Given the description of an element on the screen output the (x, y) to click on. 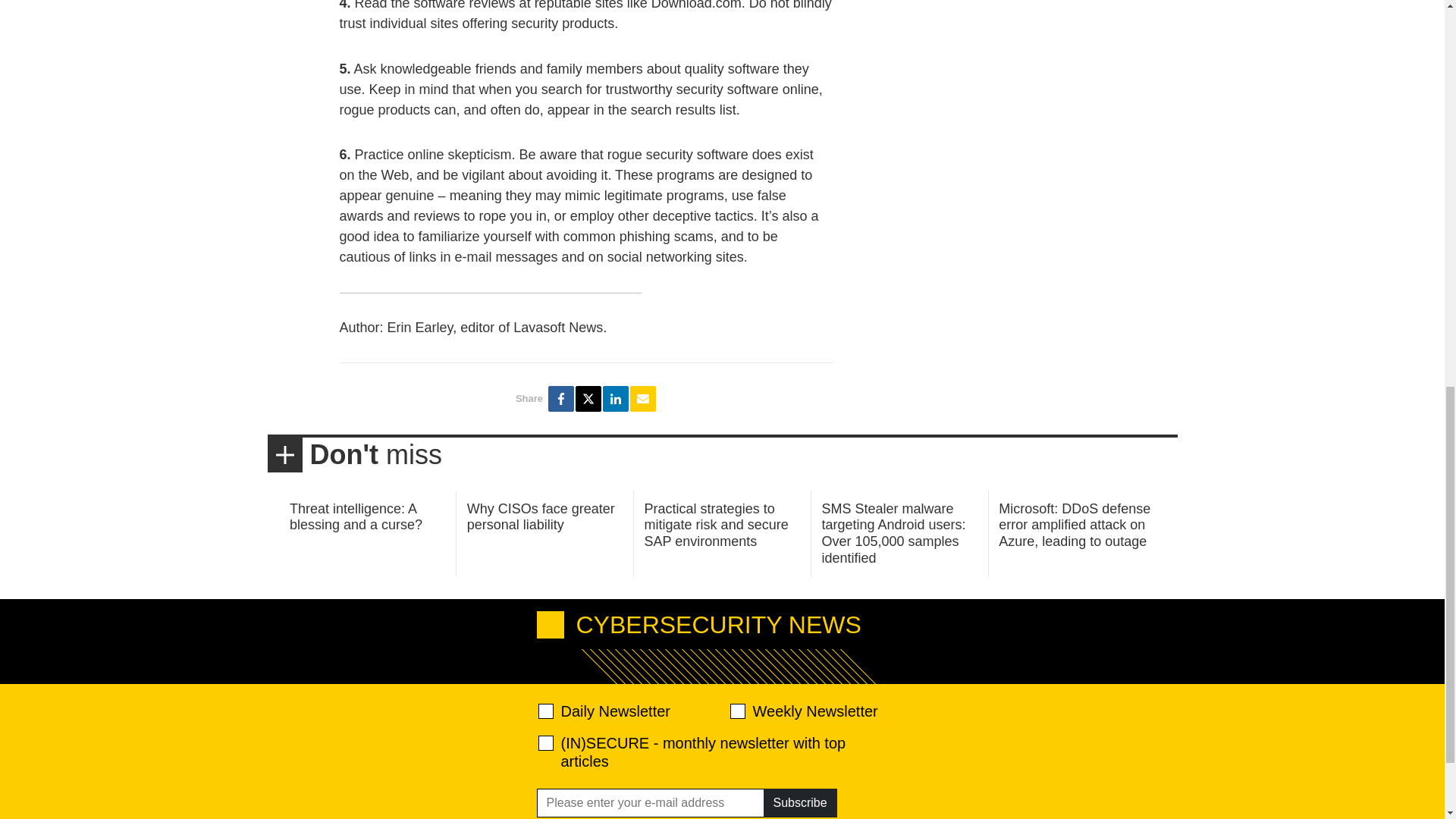
Share How to avoid rogue security software on Twitter (588, 398)
520ac2f639 (545, 711)
Share How to avoid rogue security software on LinkedIn (615, 398)
28abe5d9ef (545, 743)
Share How to avoid rogue security software via E-mail (643, 398)
Why CISOs face greater personal liability (540, 517)
Threat intelligence: A blessing and a curse? (355, 517)
d2d471aafa (736, 711)
